Given the description of an element on the screen output the (x, y) to click on. 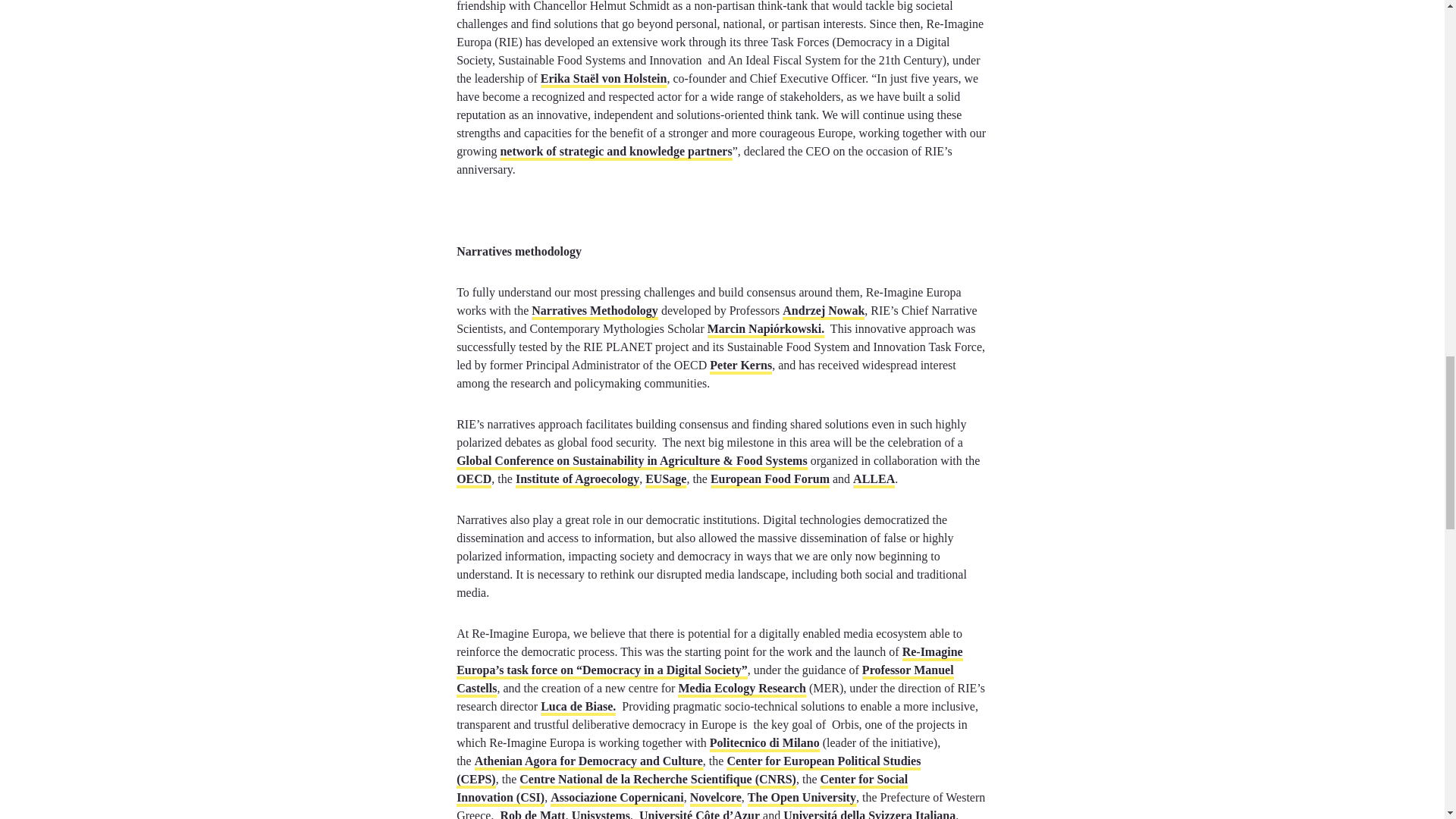
network of strategic and knowledge partners (615, 152)
